Given the description of an element on the screen output the (x, y) to click on. 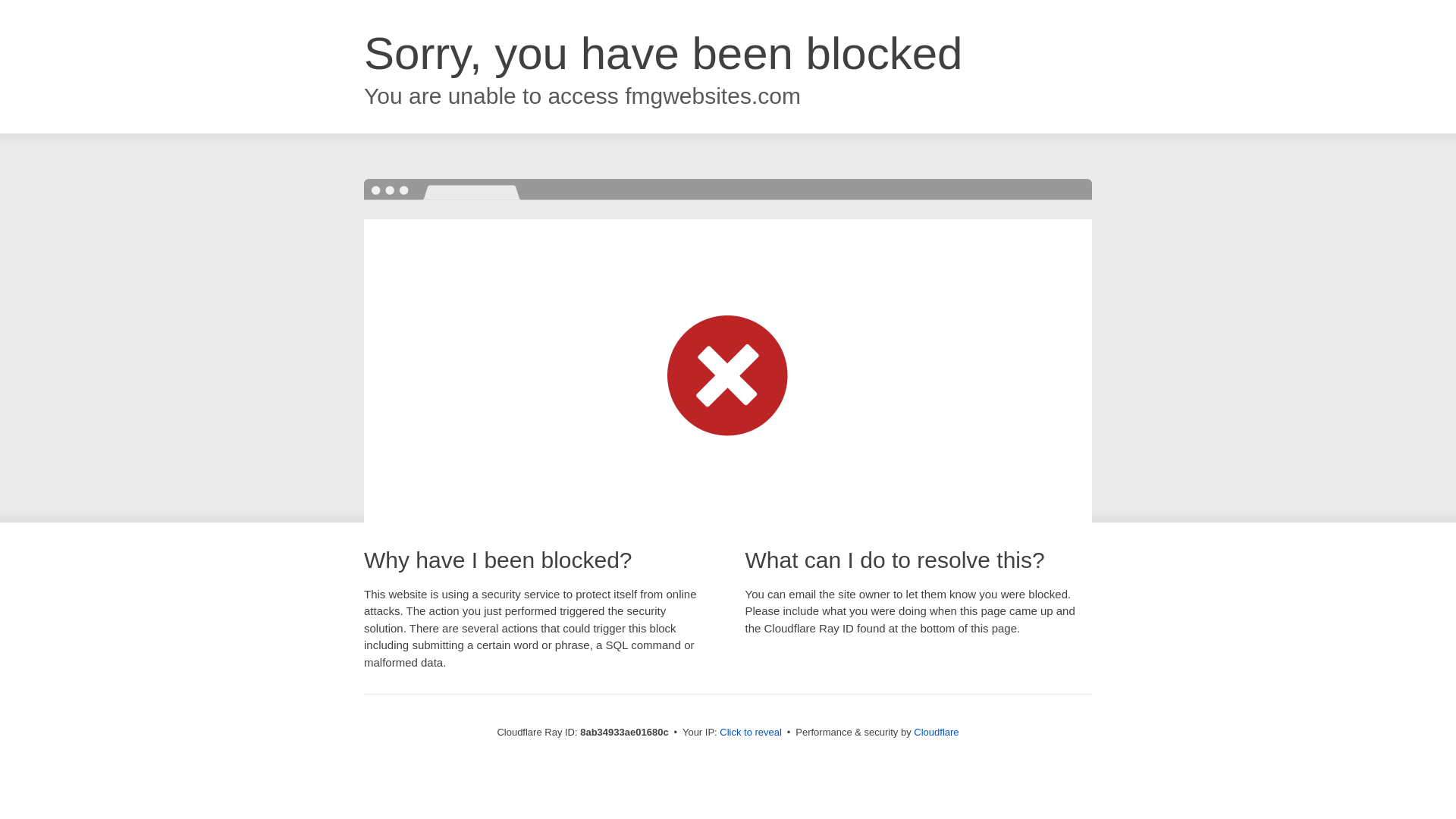
Click to reveal (750, 732)
Cloudflare (936, 731)
